Given the description of an element on the screen output the (x, y) to click on. 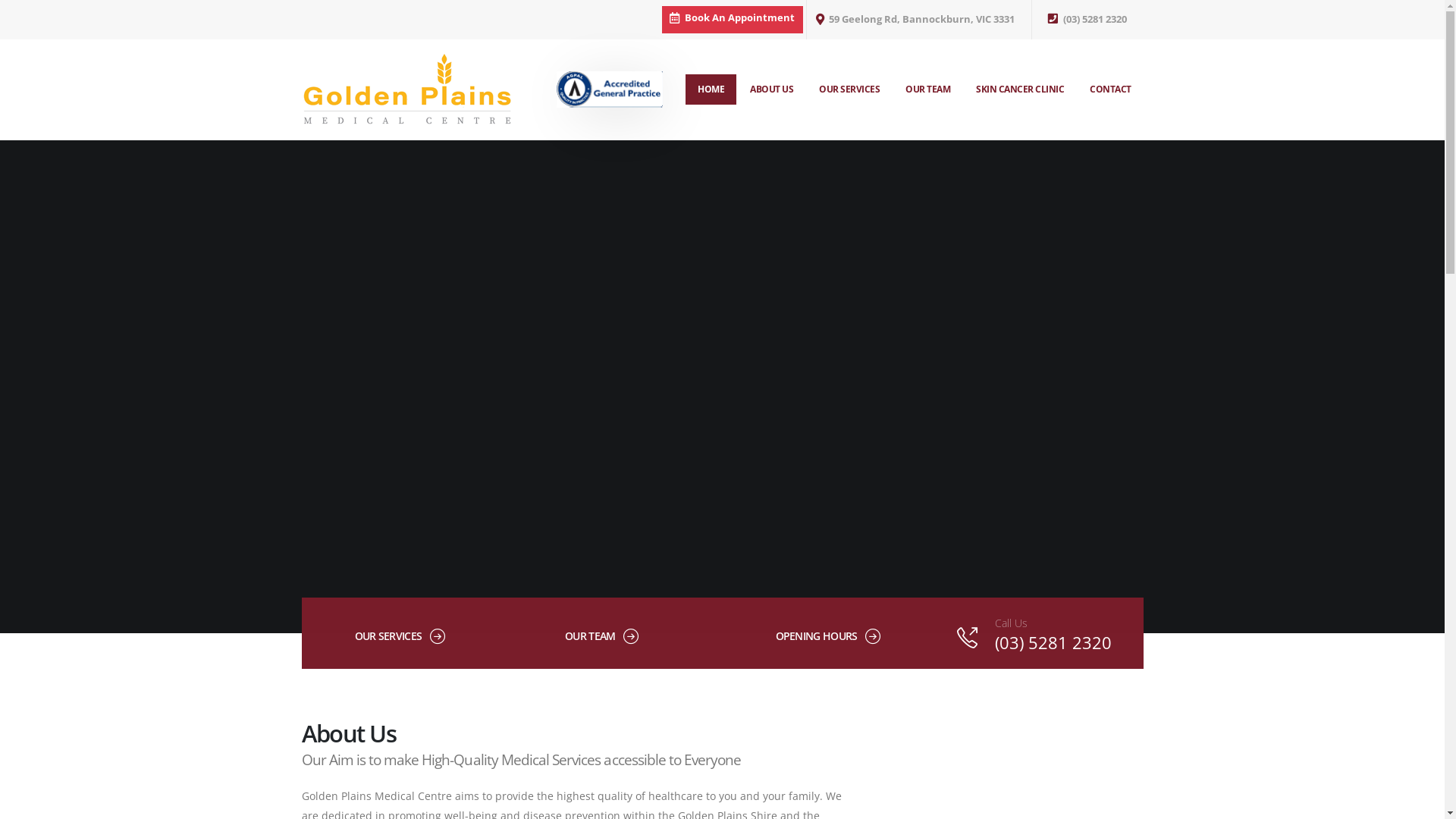
OUR TEAM Element type: text (927, 89)
OUR TEAM Element type: text (589, 635)
HOME Element type: text (710, 89)
Call Us
(03) 5281 2320 Element type: text (1037, 634)
OUR SERVICES Element type: text (848, 89)
(03) 5281 2320 Element type: text (1086, 19)
Book An Appointment Element type: text (731, 19)
SKIN CANCER CLINIC Element type: text (1019, 89)
OUR SERVICES Element type: text (388, 635)
CONTACT Element type: text (1110, 89)
ABOUT US Element type: text (771, 89)
